Given the description of an element on the screen output the (x, y) to click on. 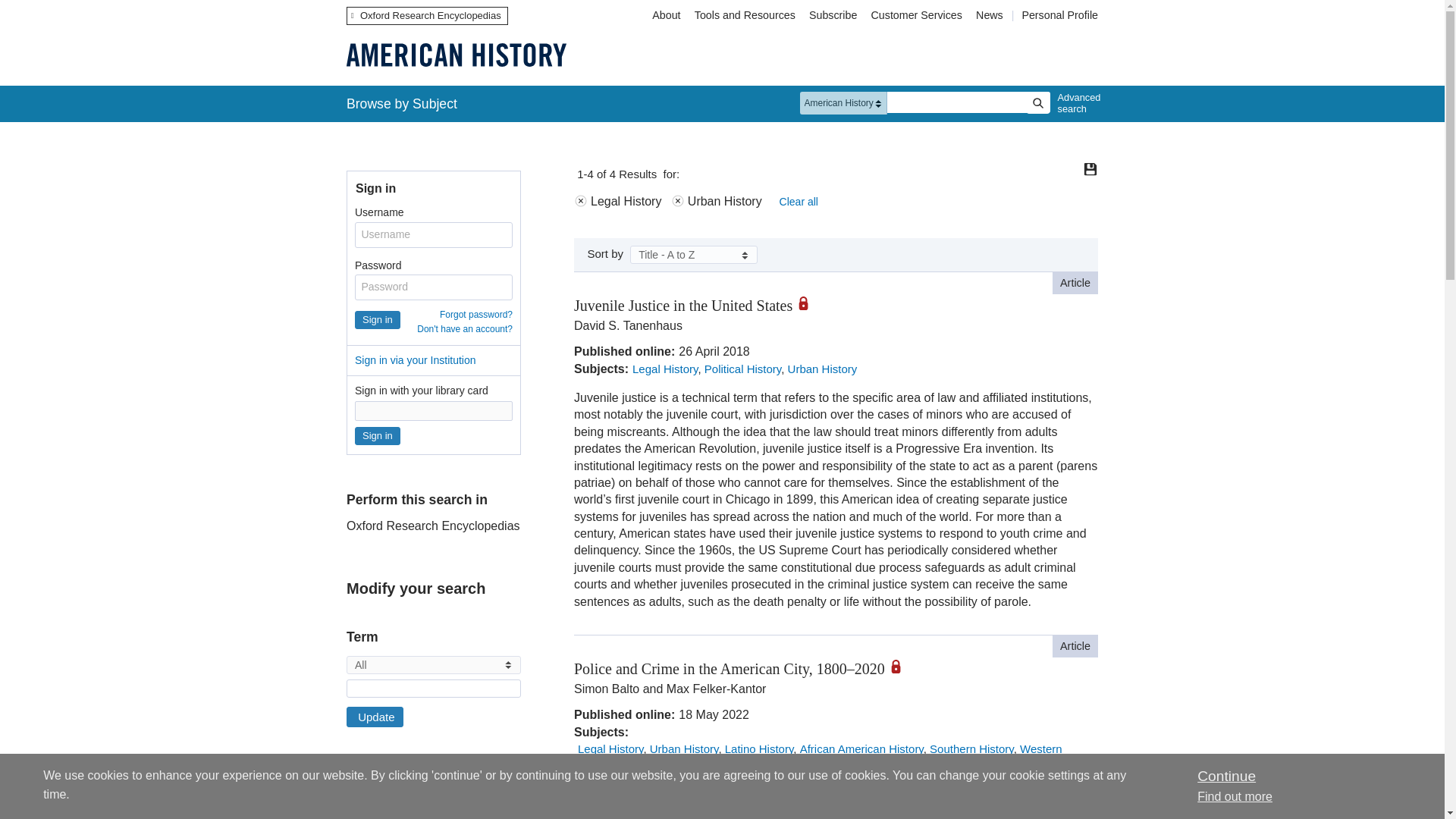
How we use cookies on this site (1234, 796)
Search (1037, 102)
Subject Reference (351, 809)
restricted access (809, 303)
 Update (374, 716)
Customer Services (917, 15)
Advanced search (1075, 103)
Continue (1225, 775)
Subscribe (832, 15)
restricted access (901, 666)
Close this message (1225, 775)
Jump to Content (55, 11)
Sign in (377, 320)
Oxford Research Encyclopedia of American History (456, 54)
Forgot password? (475, 314)
